Given the description of an element on the screen output the (x, y) to click on. 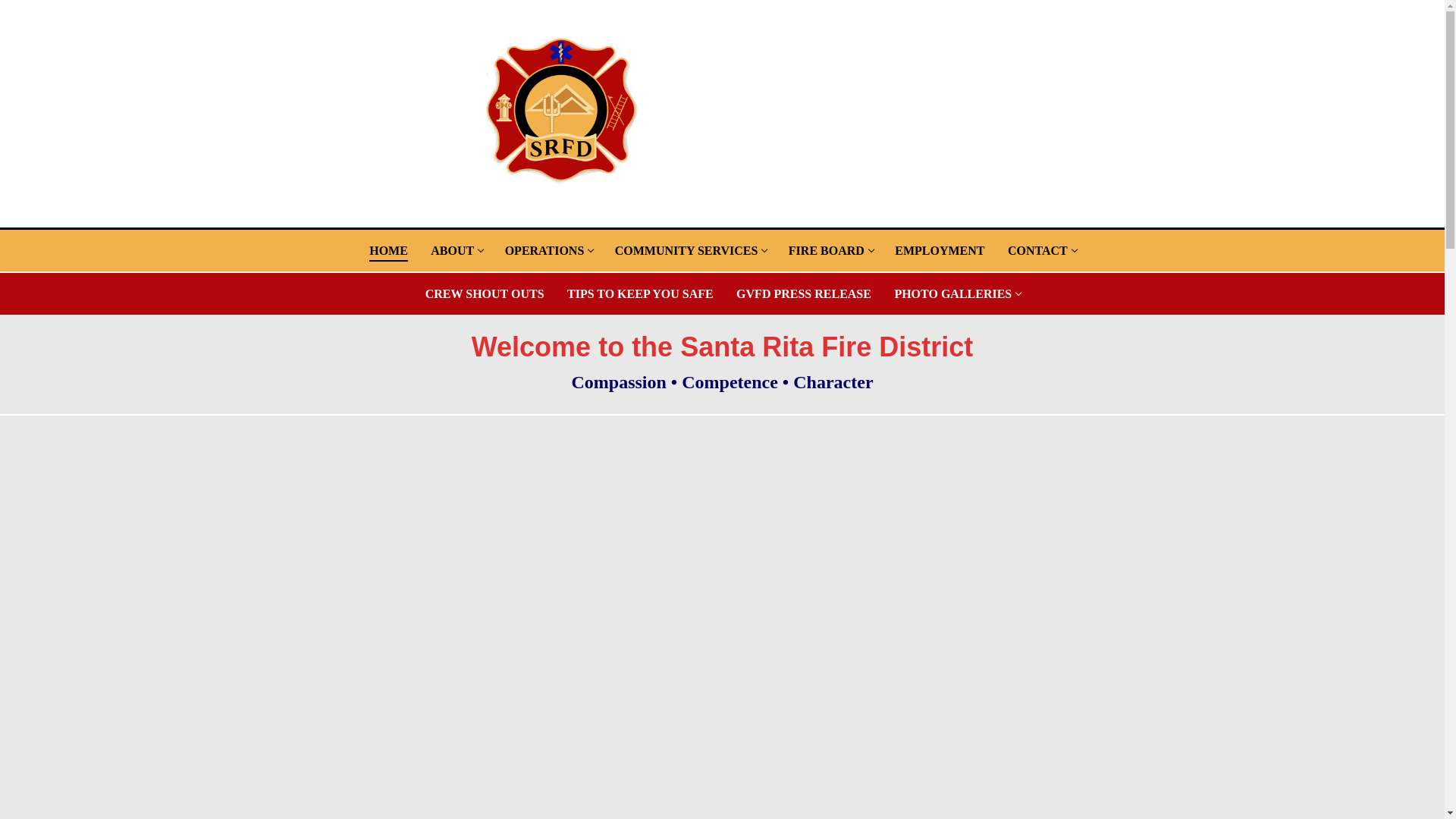
EMPLOYMENT (456, 250)
HOME (939, 250)
